Given the description of an element on the screen output the (x, y) to click on. 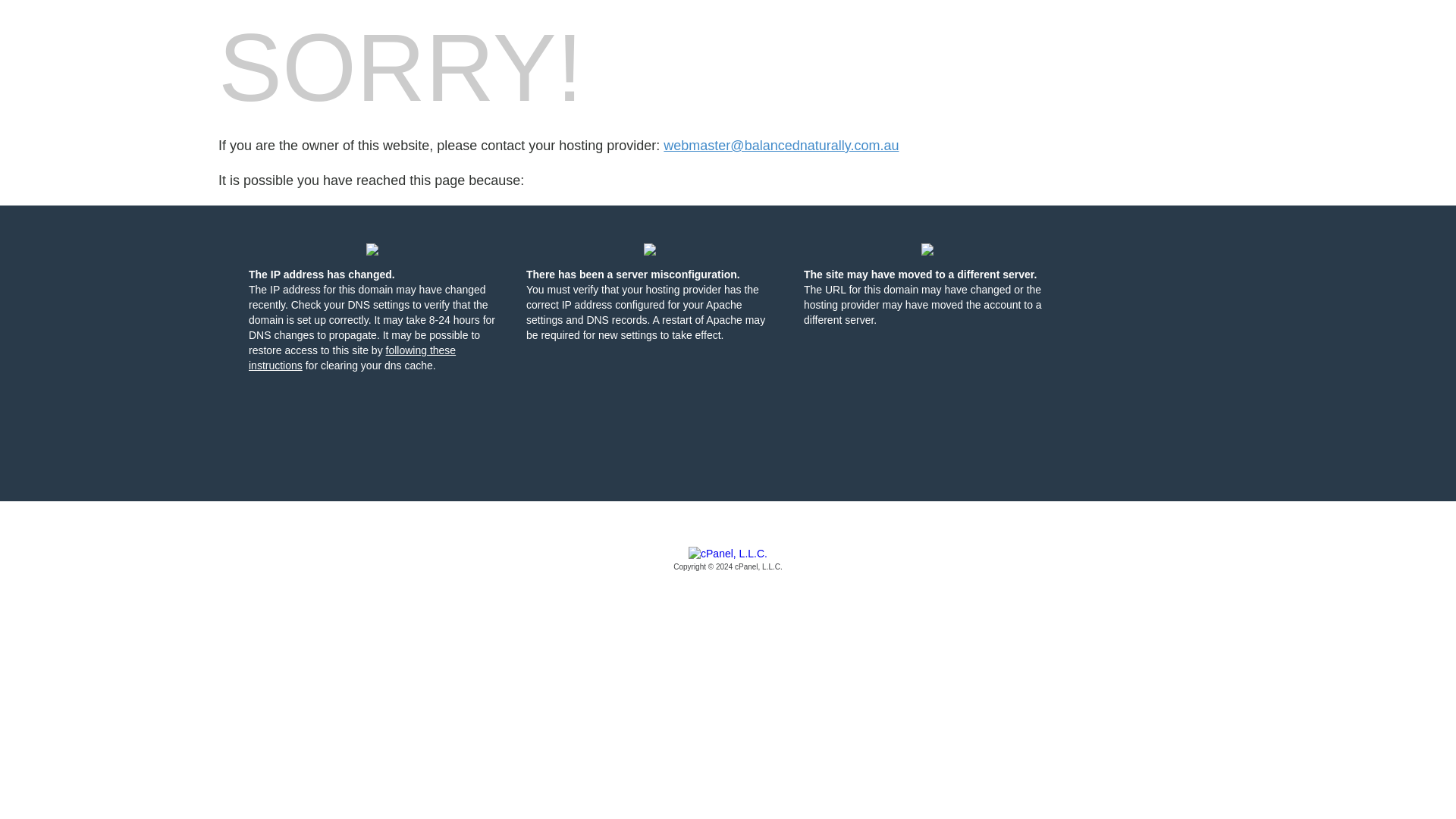
cPanel, L.L.C. (727, 559)
Click this link to contact the host (780, 145)
following these instructions (351, 357)
